Given the description of an element on the screen output the (x, y) to click on. 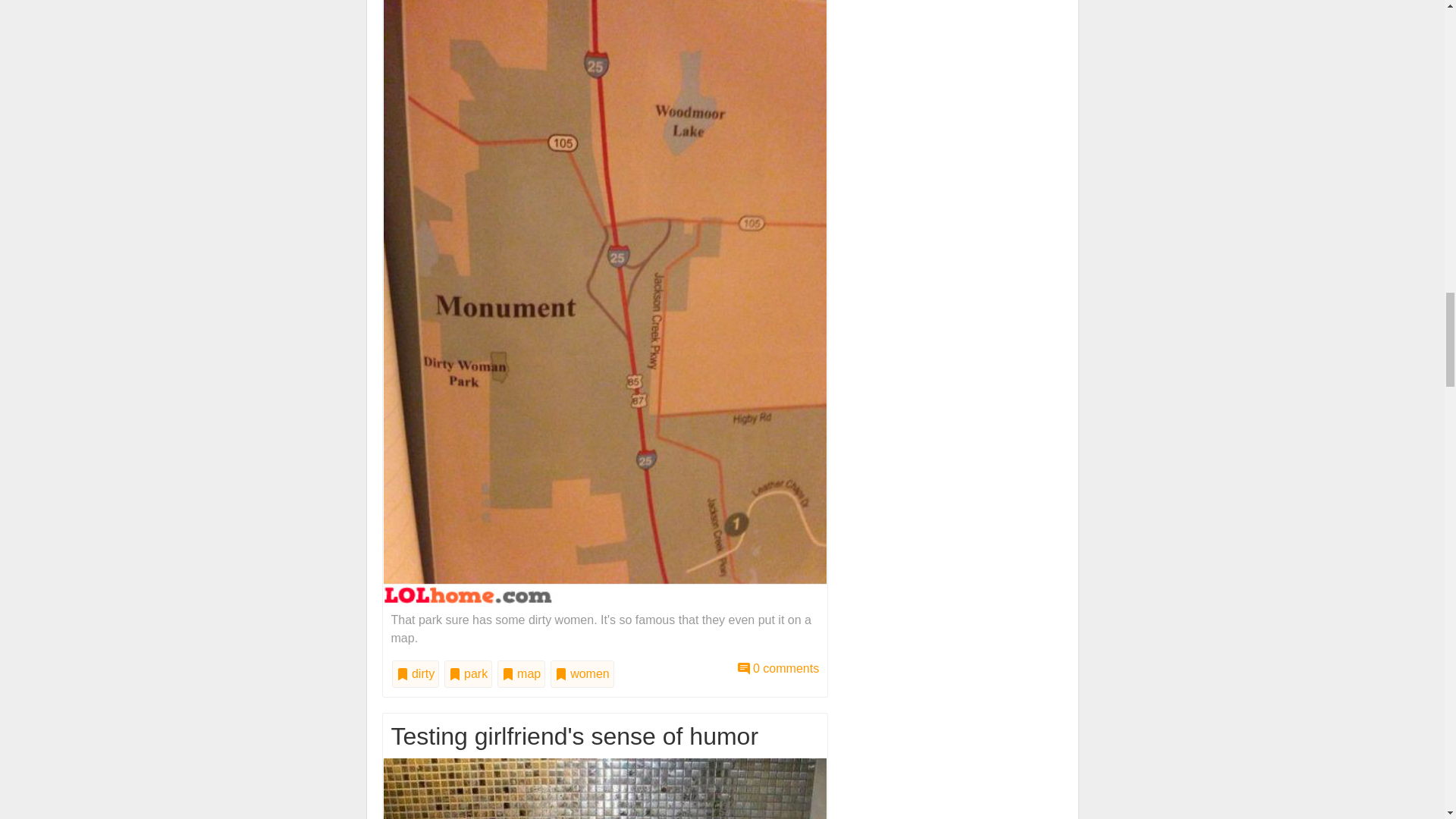
0 comments (778, 667)
map (521, 673)
Dirty woman park (605, 295)
park (468, 673)
women (582, 673)
Dirty woman park (778, 667)
dirty (415, 673)
